Given the description of an element on the screen output the (x, y) to click on. 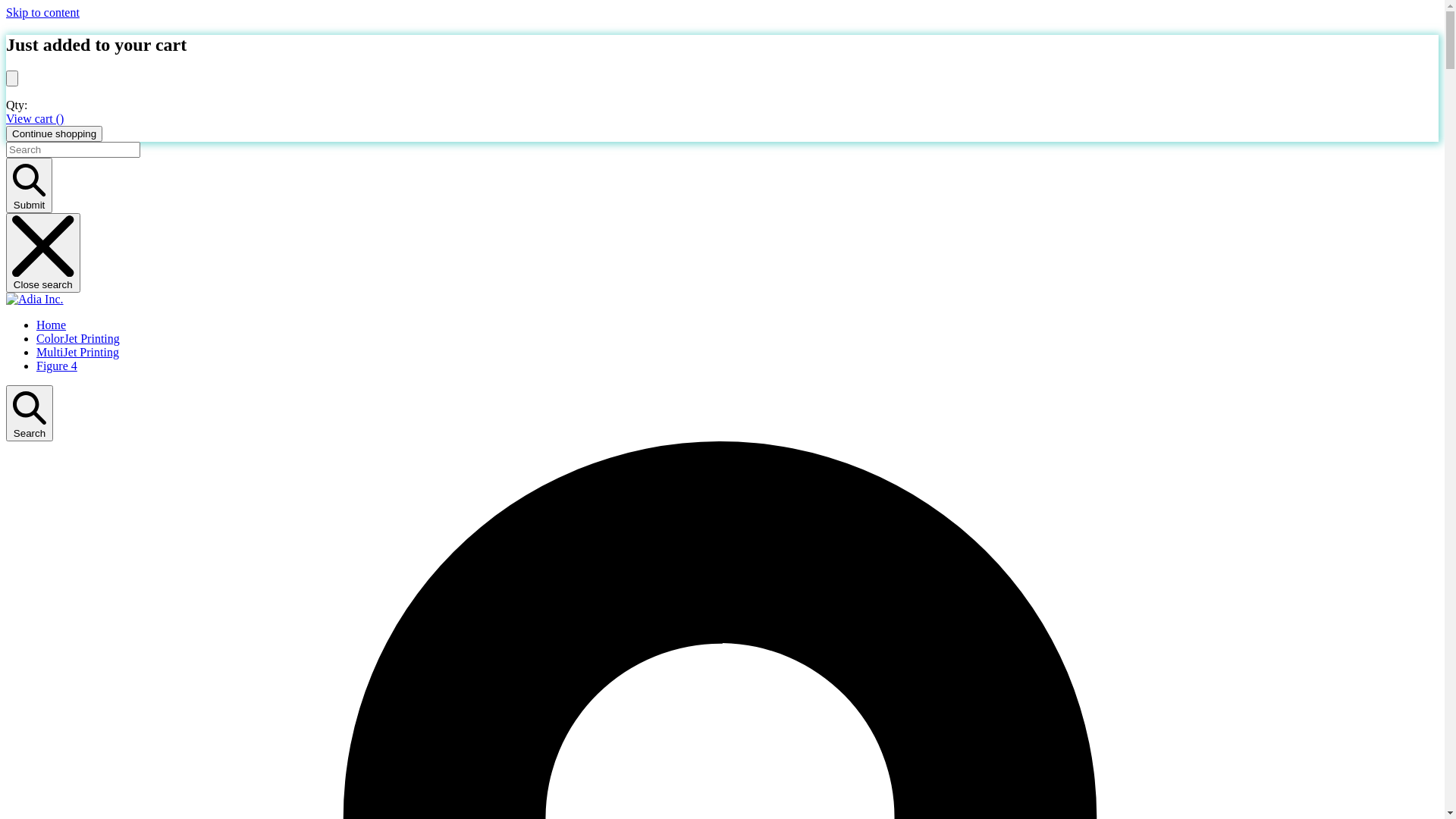
View cart () Element type: text (34, 118)
Skip to content Element type: text (42, 12)
Submit Element type: text (29, 185)
Close search Element type: text (43, 253)
ColorJet Printing Element type: text (77, 338)
MultiJet Printing Element type: text (77, 351)
Home Element type: text (50, 324)
Search Element type: text (29, 413)
Continue shopping Element type: text (54, 133)
Figure 4 Element type: text (56, 365)
